Given the description of an element on the screen output the (x, y) to click on. 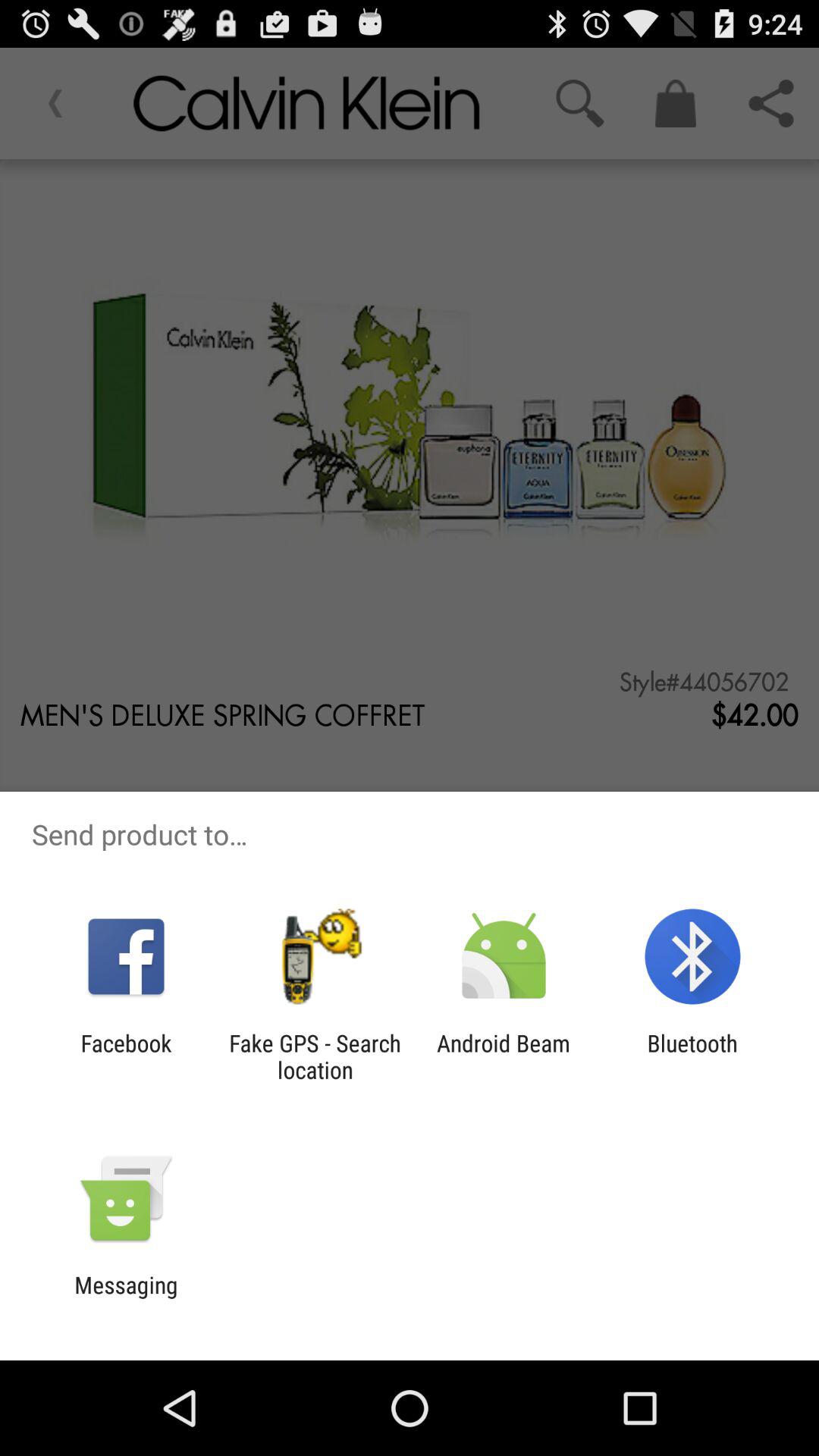
select bluetooth item (692, 1056)
